Given the description of an element on the screen output the (x, y) to click on. 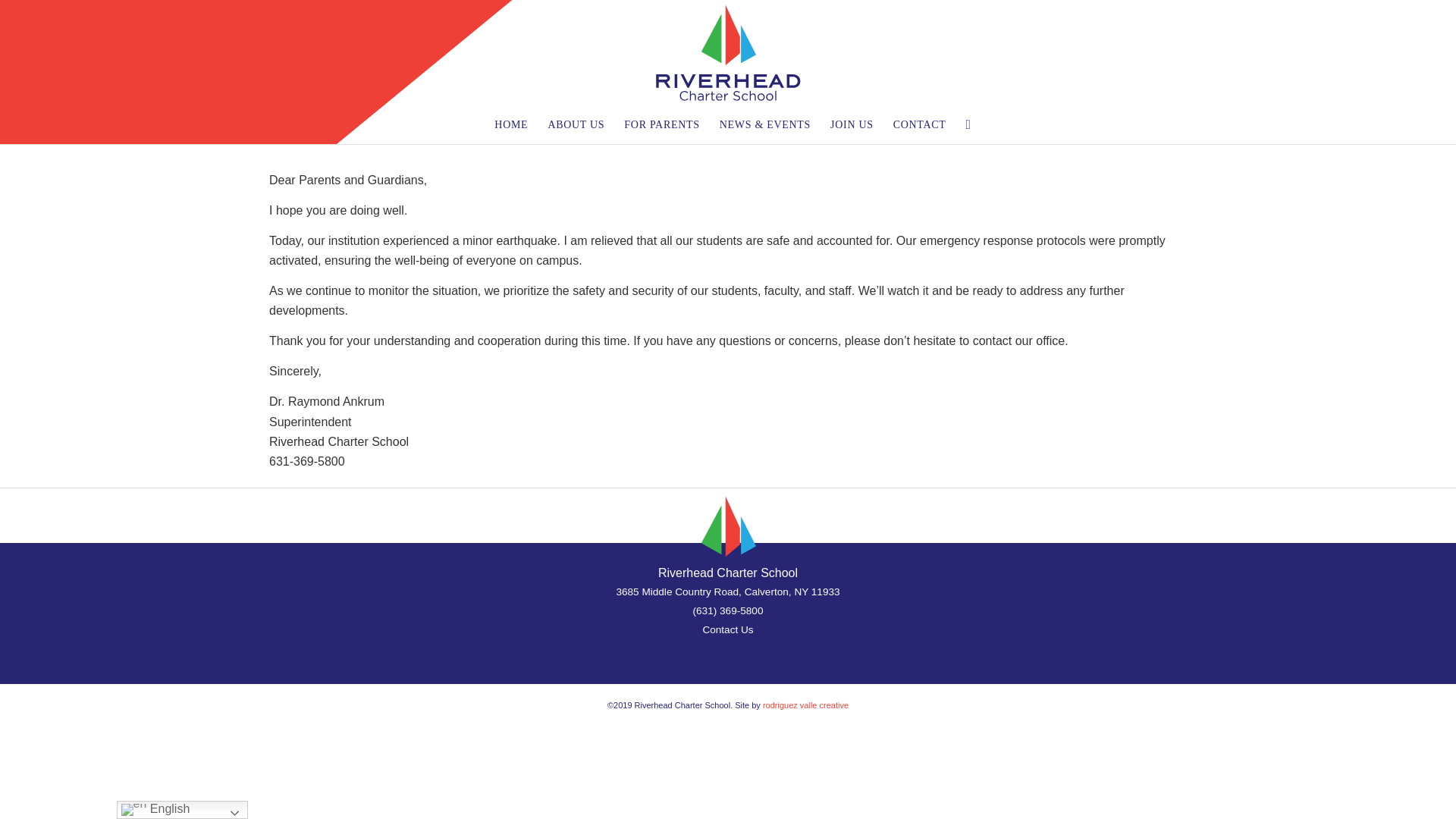
FOR PARENTS (661, 125)
ABOUT US (575, 125)
JOIN US (852, 125)
rodriguez valle creative (805, 705)
Contact Us (726, 629)
CONTACT (919, 125)
HOME (510, 125)
